Given the description of an element on the screen output the (x, y) to click on. 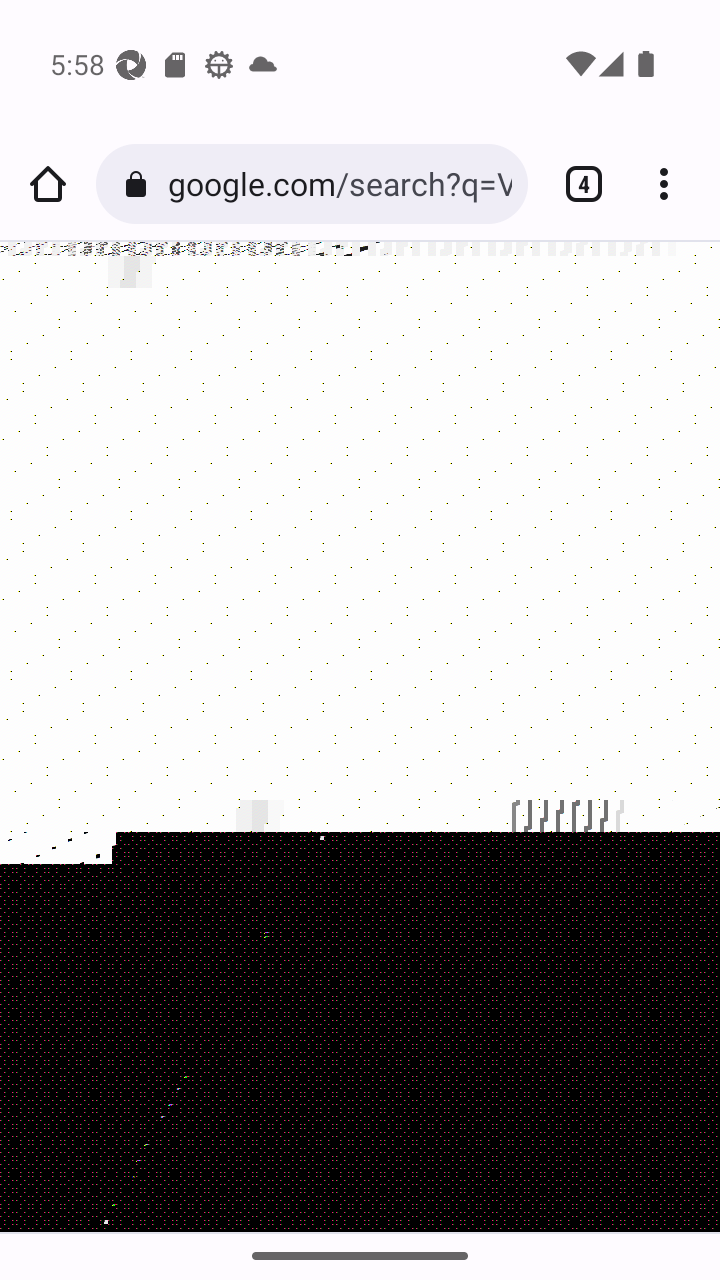
Home (47, 184)
Connection is secure (139, 184)
Switch or close tabs (575, 184)
More options (672, 184)
